Given the description of an element on the screen output the (x, y) to click on. 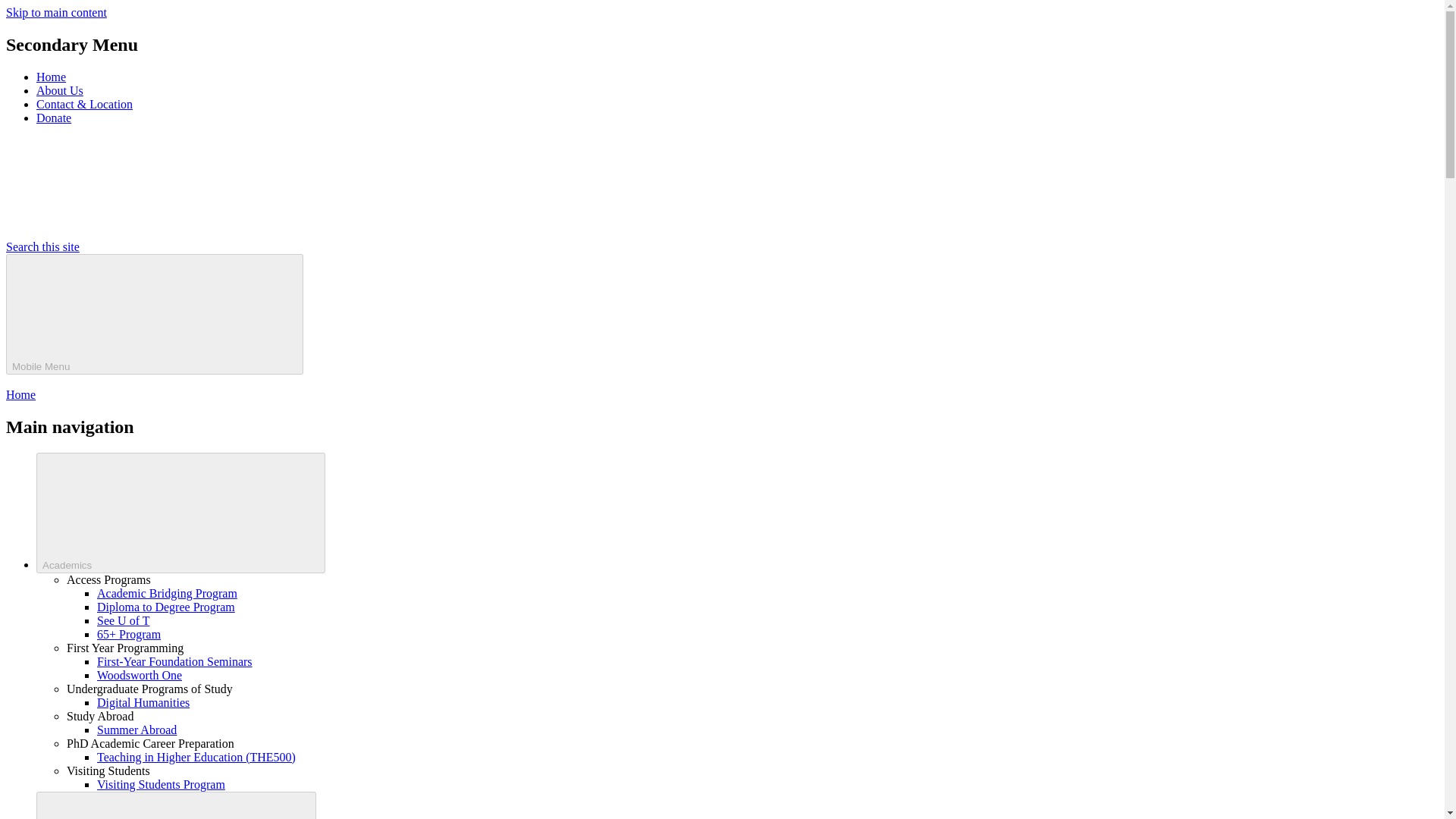
Search this site (156, 246)
Woodsworth One (139, 675)
Home (50, 76)
First-Year Foundation Seminars (174, 661)
Digital Humanities (143, 702)
About Us (59, 90)
Academic Bridging Program (167, 593)
Diploma to Degree Program (165, 606)
Donate (53, 117)
Summer Abroad (136, 729)
